Given the description of an element on the screen output the (x, y) to click on. 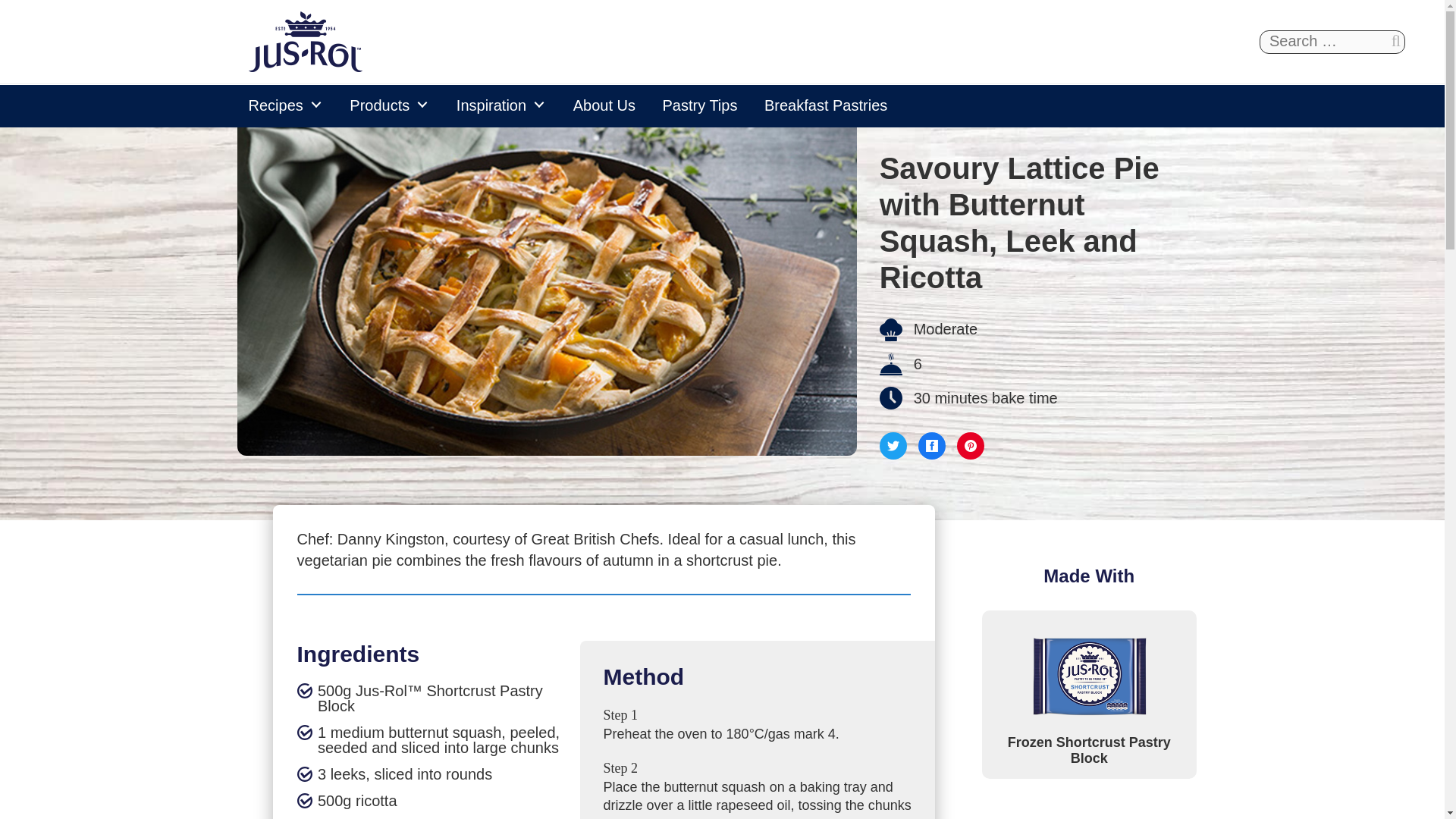
Recipes (286, 105)
Products (389, 105)
Search (1396, 40)
